Given the description of an element on the screen output the (x, y) to click on. 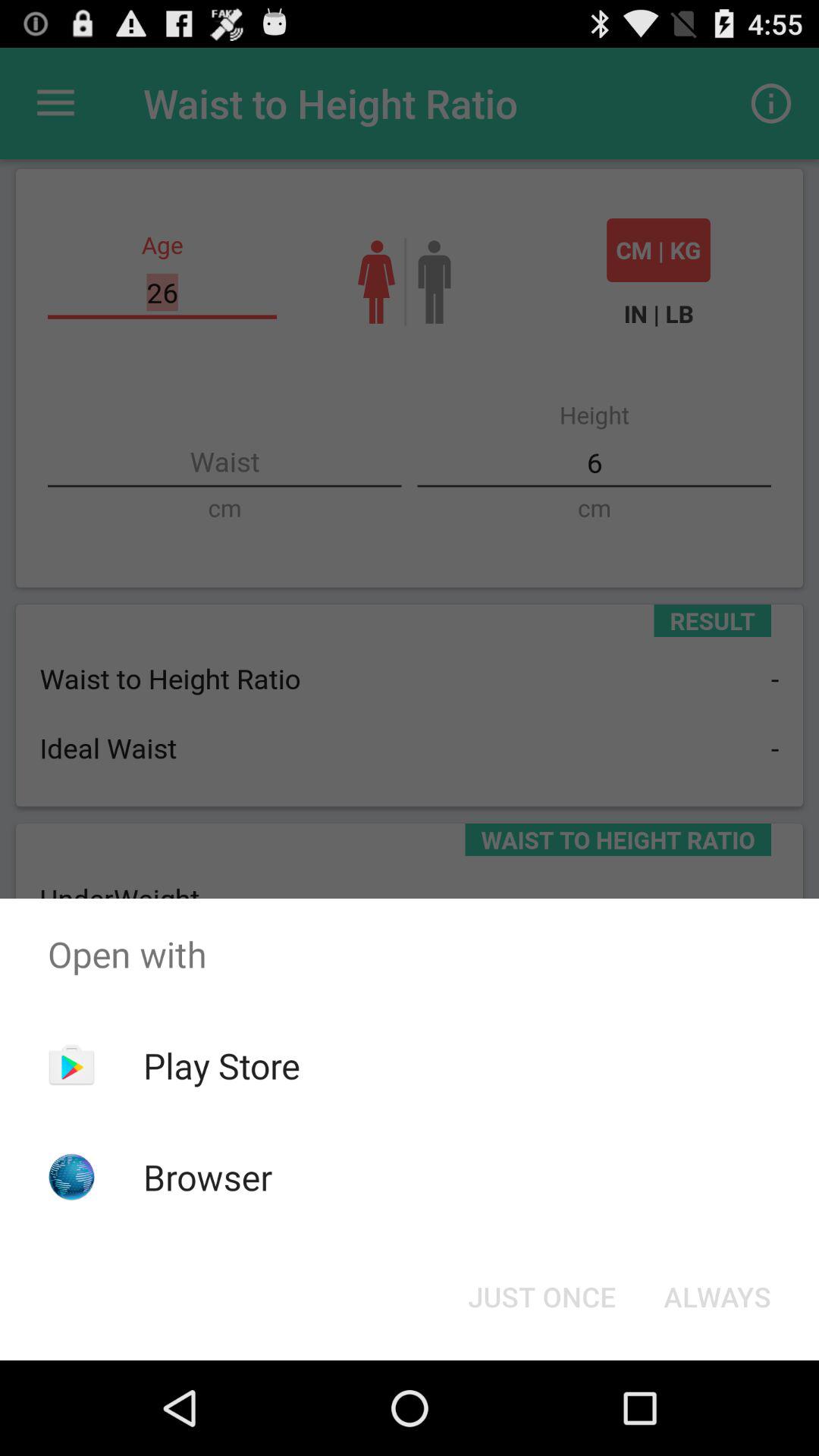
choose button at the bottom (541, 1296)
